Given the description of an element on the screen output the (x, y) to click on. 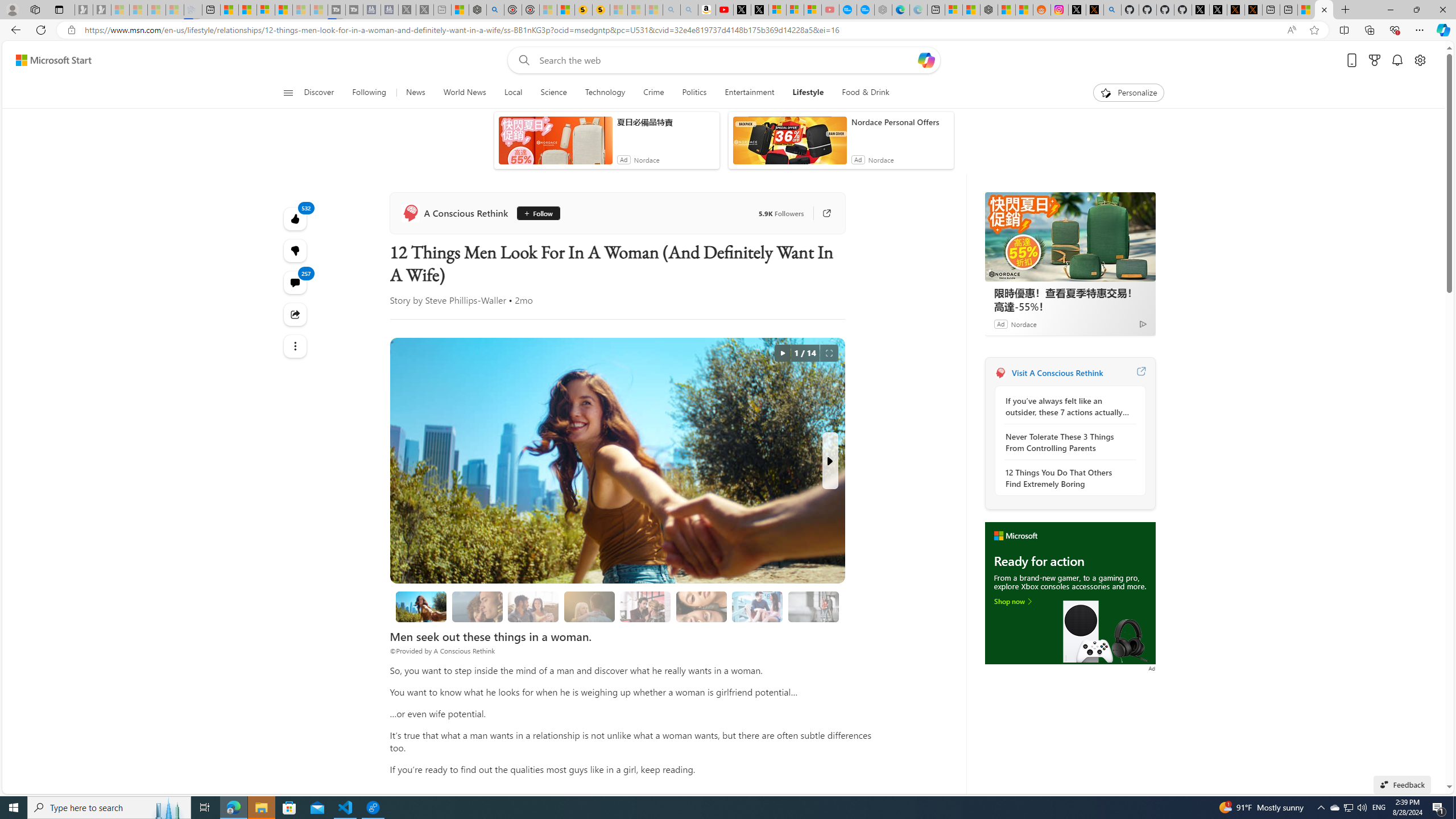
7. She can communicate her needs and wants. (812, 606)
Crime (653, 92)
Follow (534, 213)
12 Things You Do That Others Find Extremely Boring (1066, 477)
Microsoft rewards (1374, 60)
Go to publisher's site (820, 213)
To get missing image descriptions, open the context menu. (1070, 593)
World News (464, 92)
